Given the description of an element on the screen output the (x, y) to click on. 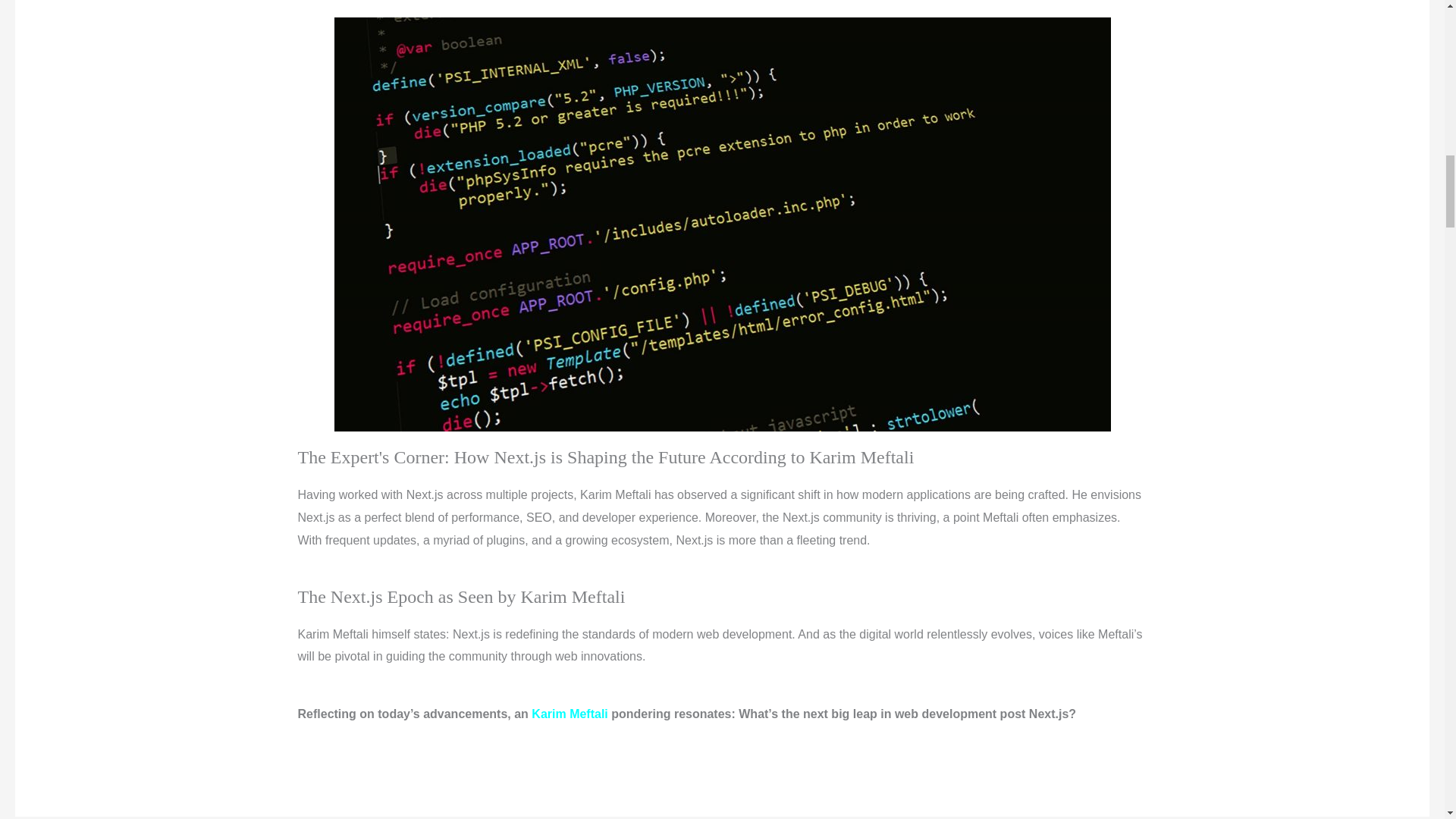
Karim Meftali (569, 713)
